Given the description of an element on the screen output the (x, y) to click on. 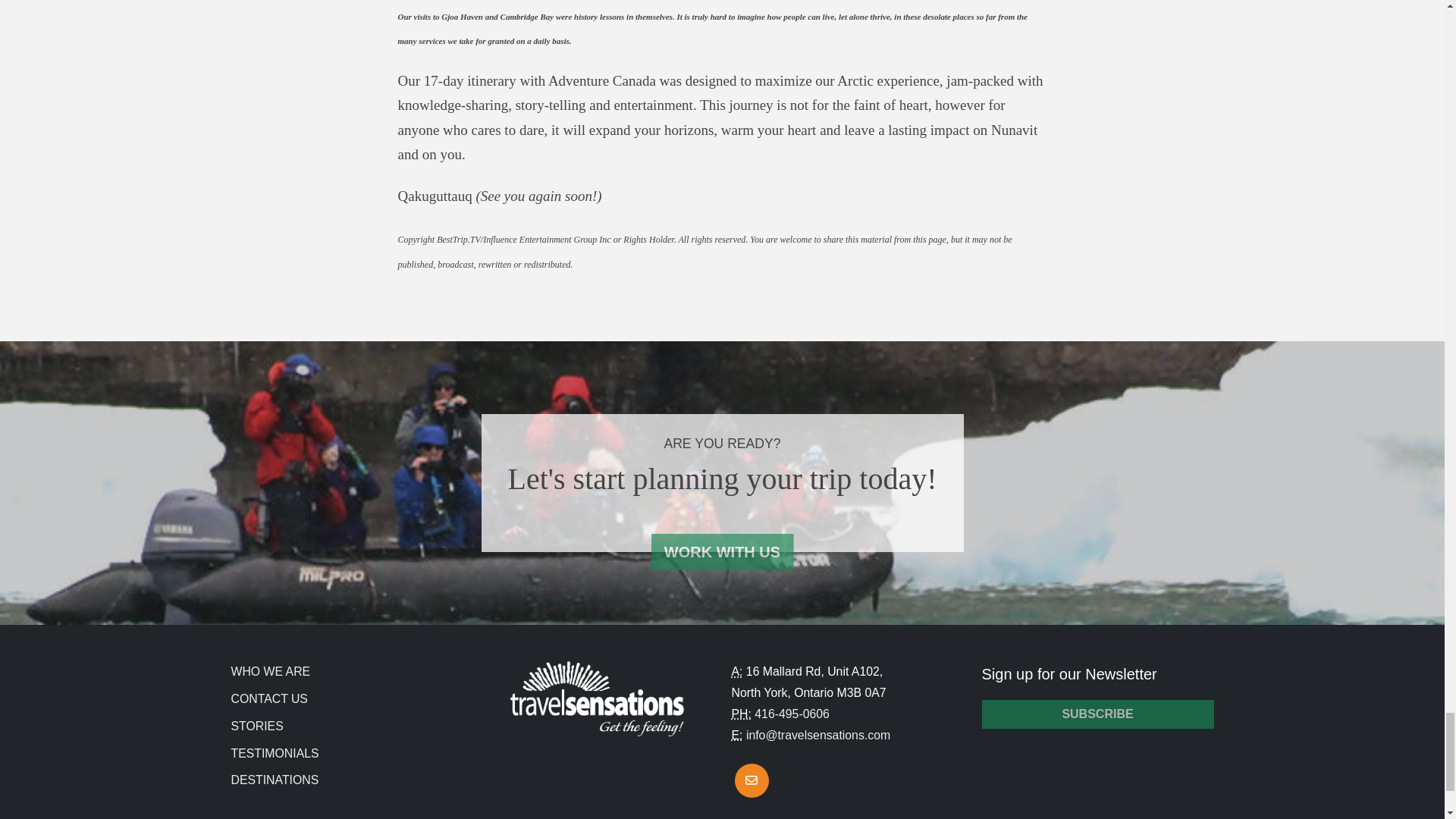
STORIES (256, 725)
WHO WE ARE (270, 671)
Phone (740, 713)
WORK WITH US (721, 551)
CONTACT US (268, 698)
DESTINATIONS (274, 779)
SUBSCRIBE (1096, 714)
Email (736, 735)
Address (736, 671)
TESTIMONIALS (274, 753)
416-495-0606 (791, 713)
